Given the description of an element on the screen output the (x, y) to click on. 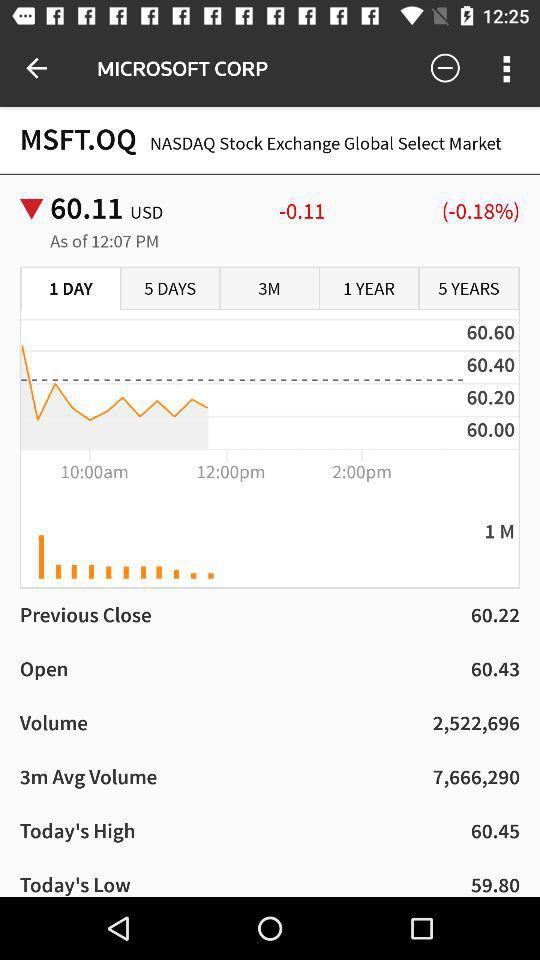
choose the item to the right of microsoft corp item (444, 67)
